Given the description of an element on the screen output the (x, y) to click on. 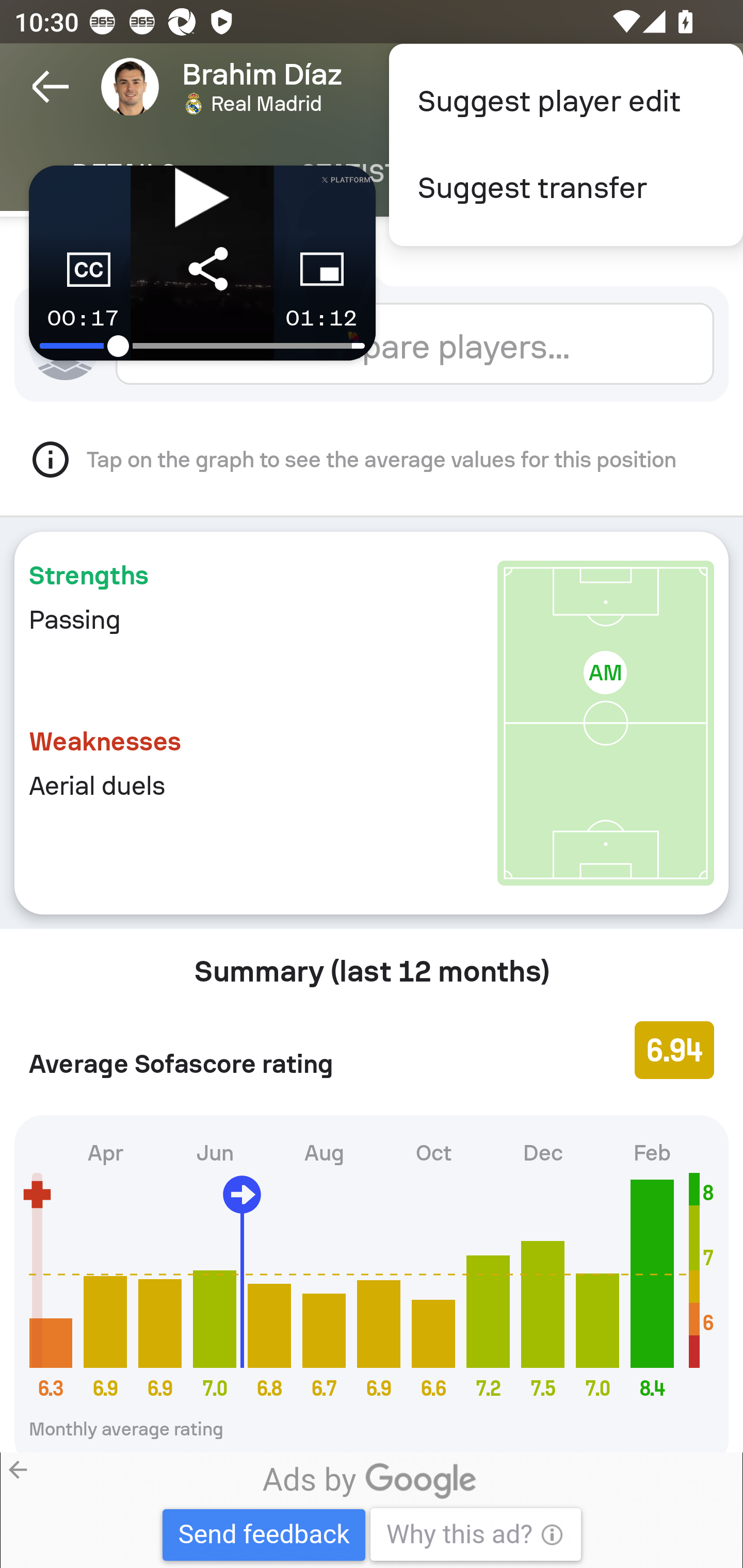
Suggest player edit (566, 101)
Suggest transfer (566, 188)
